Given the description of an element on the screen output the (x, y) to click on. 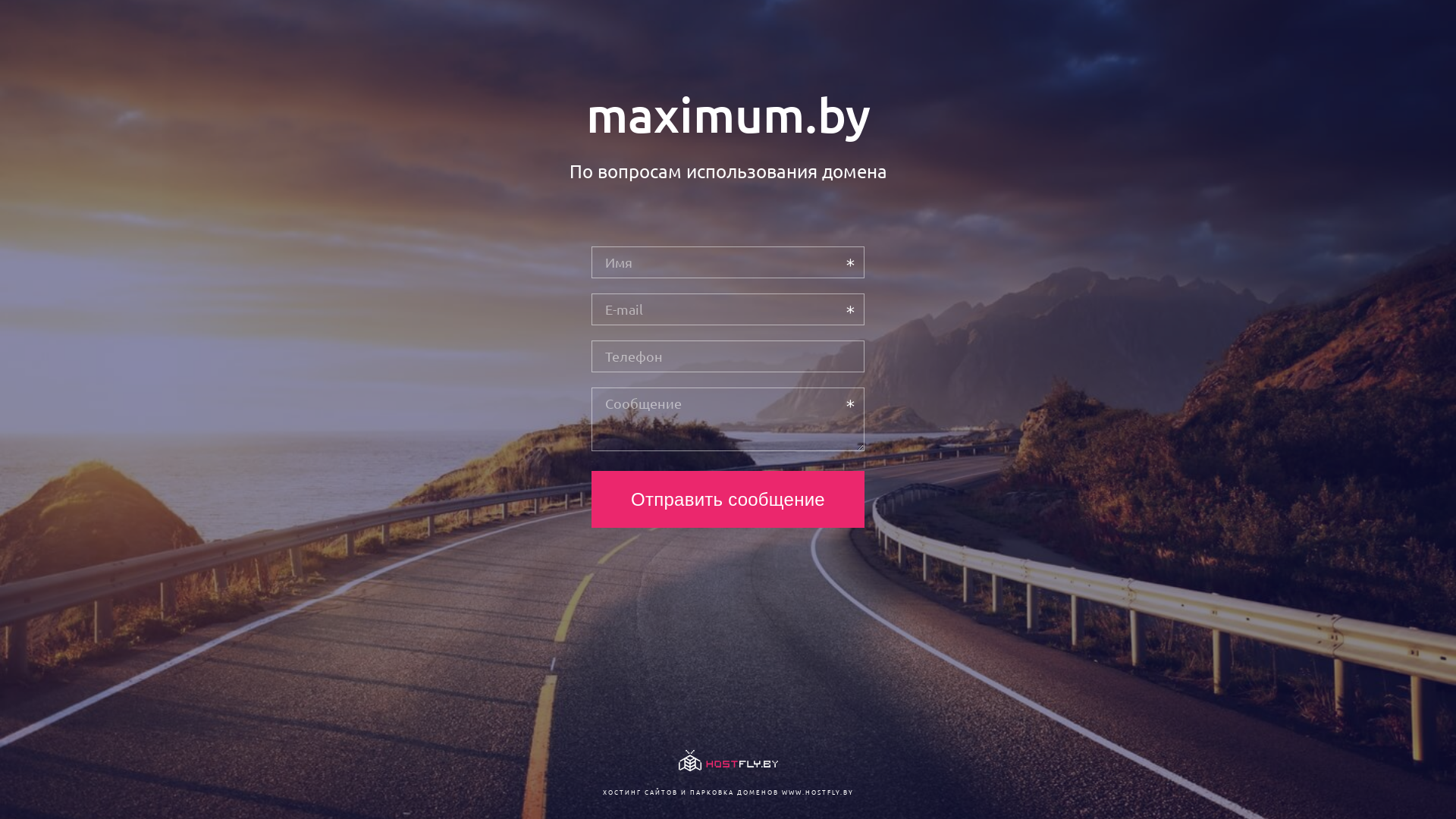
WWW.HOSTFLY.BY Element type: text (817, 791)
